Given the description of an element on the screen output the (x, y) to click on. 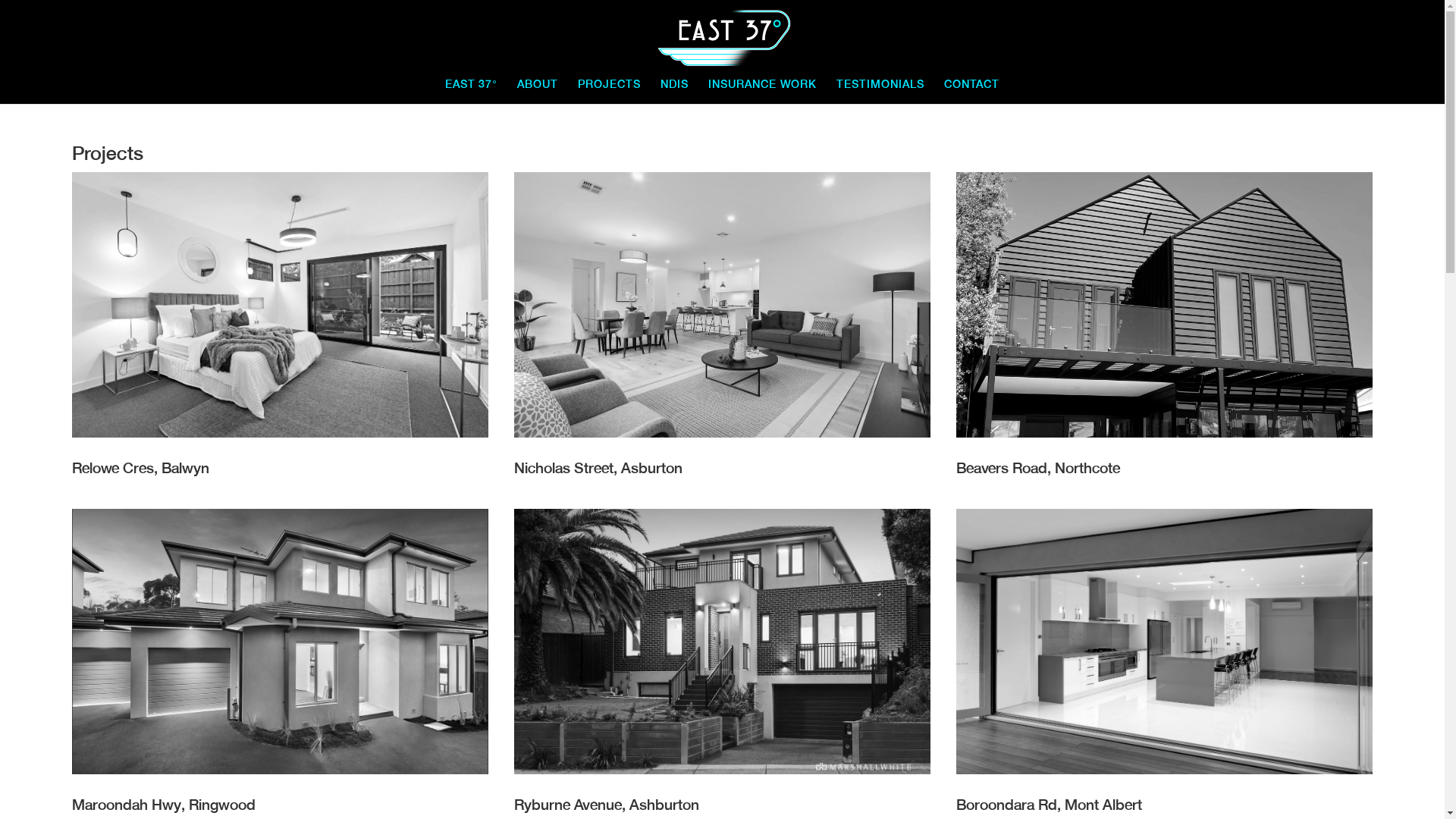
CONTACT Element type: text (971, 91)
TESTIMONIALS Element type: text (880, 91)
Relowe Cres, Balwyn Element type: text (280, 328)
Beavers Road, Northcote Element type: text (1164, 328)
NDIS Element type: text (674, 91)
PROJECTS Element type: text (608, 91)
INSURANCE WORK Element type: text (762, 91)
ABOUT Element type: text (537, 91)
Nicholas Street, Asburton Element type: text (722, 328)
